Given the description of an element on the screen output the (x, y) to click on. 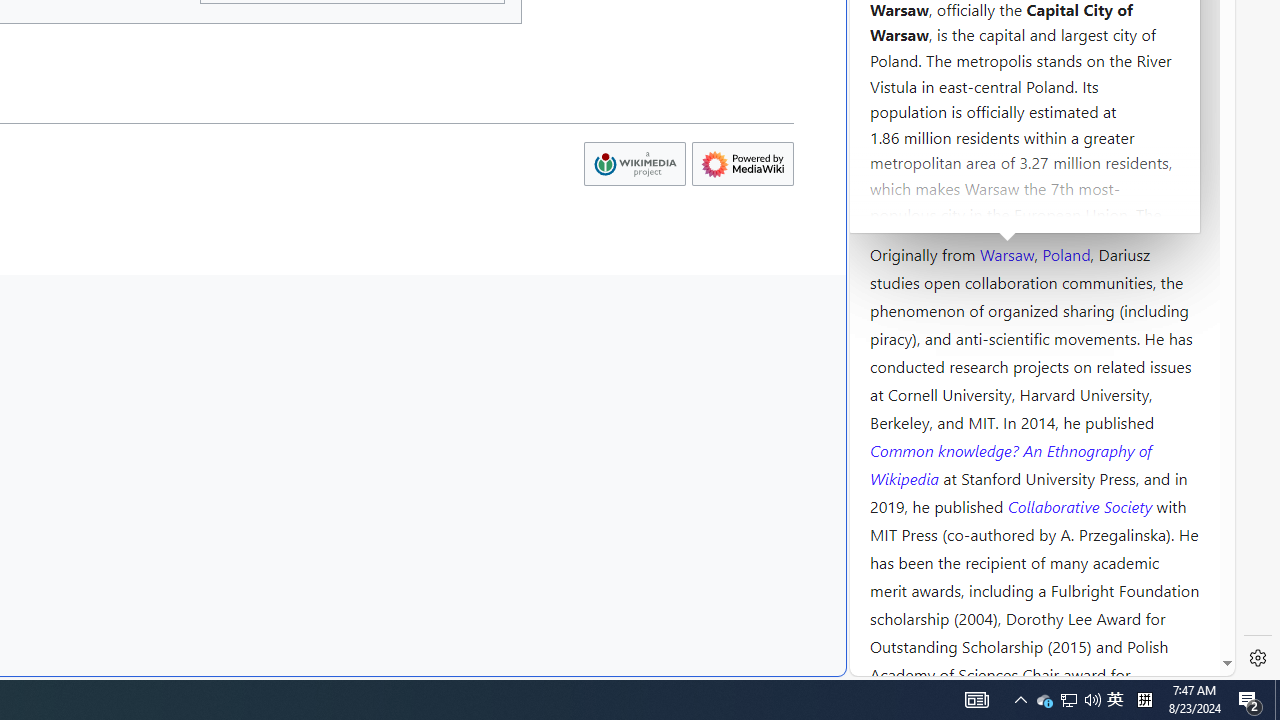
AutomationID: footer-copyrightico (634, 164)
Powered by MediaWiki (742, 164)
Collaborative Society  (1082, 505)
Wikimedia Foundation (634, 164)
google_privacy_policy_zh-CN.pdf (687, 482)
AutomationID: footer-poweredbyico (742, 164)
